Given the description of an element on the screen output the (x, y) to click on. 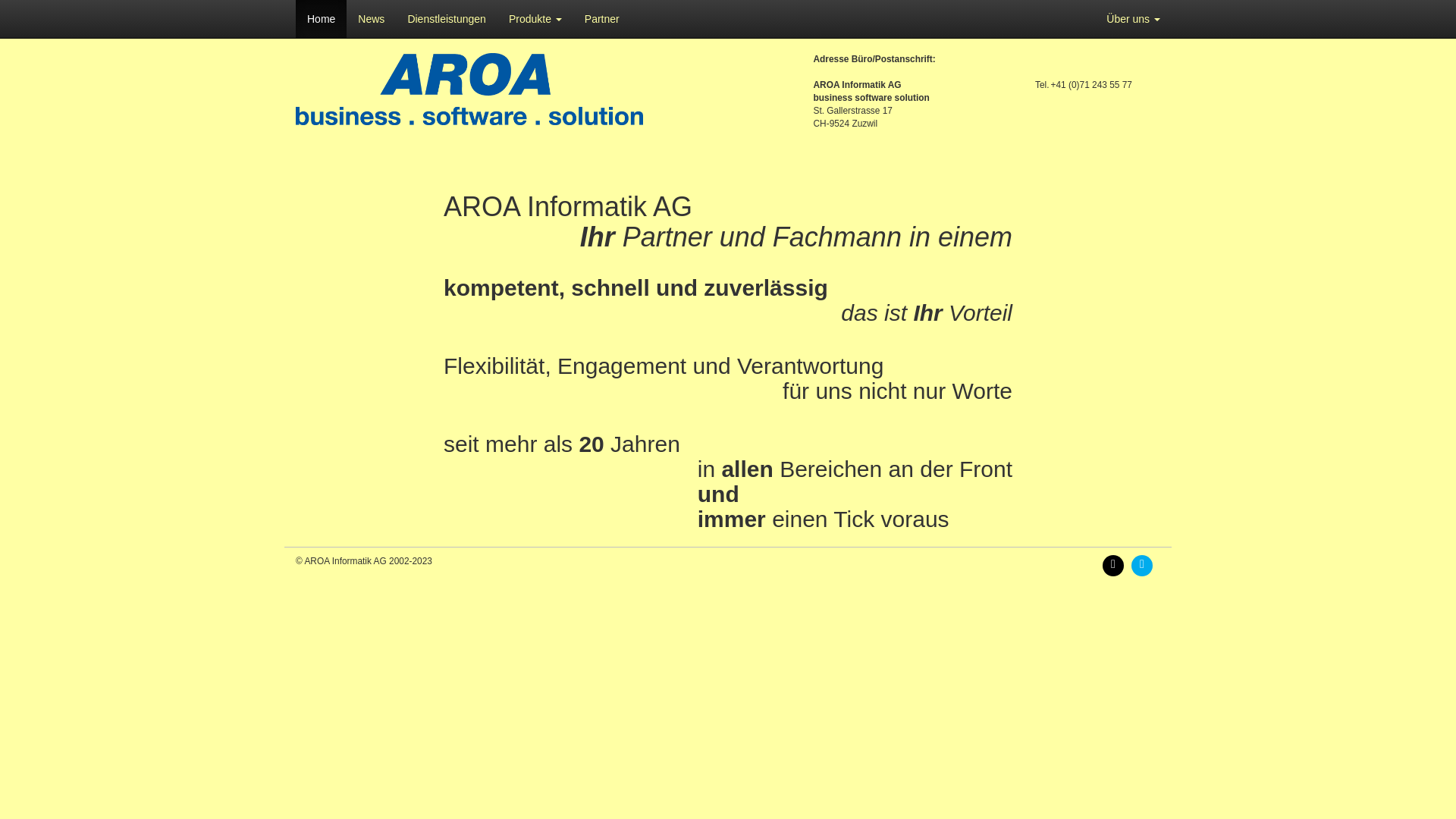
Produkte Element type: text (535, 18)
News Element type: text (370, 18)
Kontakt Element type: hover (1116, 564)
Twitter Element type: hover (1145, 564)
Home Element type: text (320, 18)
Partner Element type: text (601, 18)
Startseite Element type: hover (469, 89)
Dienstleistungen Element type: text (446, 18)
